Given the description of an element on the screen output the (x, y) to click on. 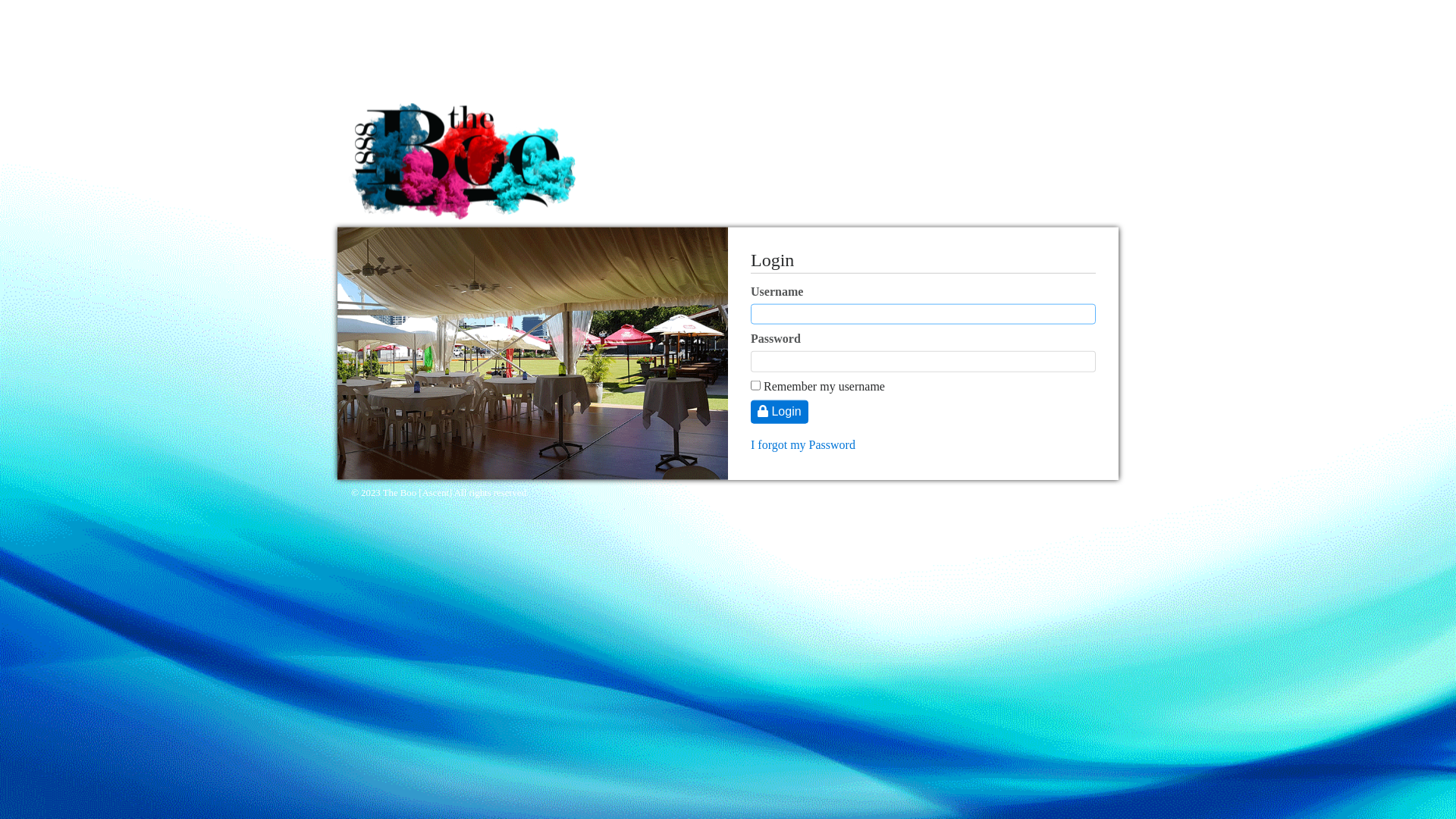
Need Help?  Element type: text (1082, 492)
I forgot my Password Element type: text (802, 444)
Login Element type: text (779, 411)
